Given the description of an element on the screen output the (x, y) to click on. 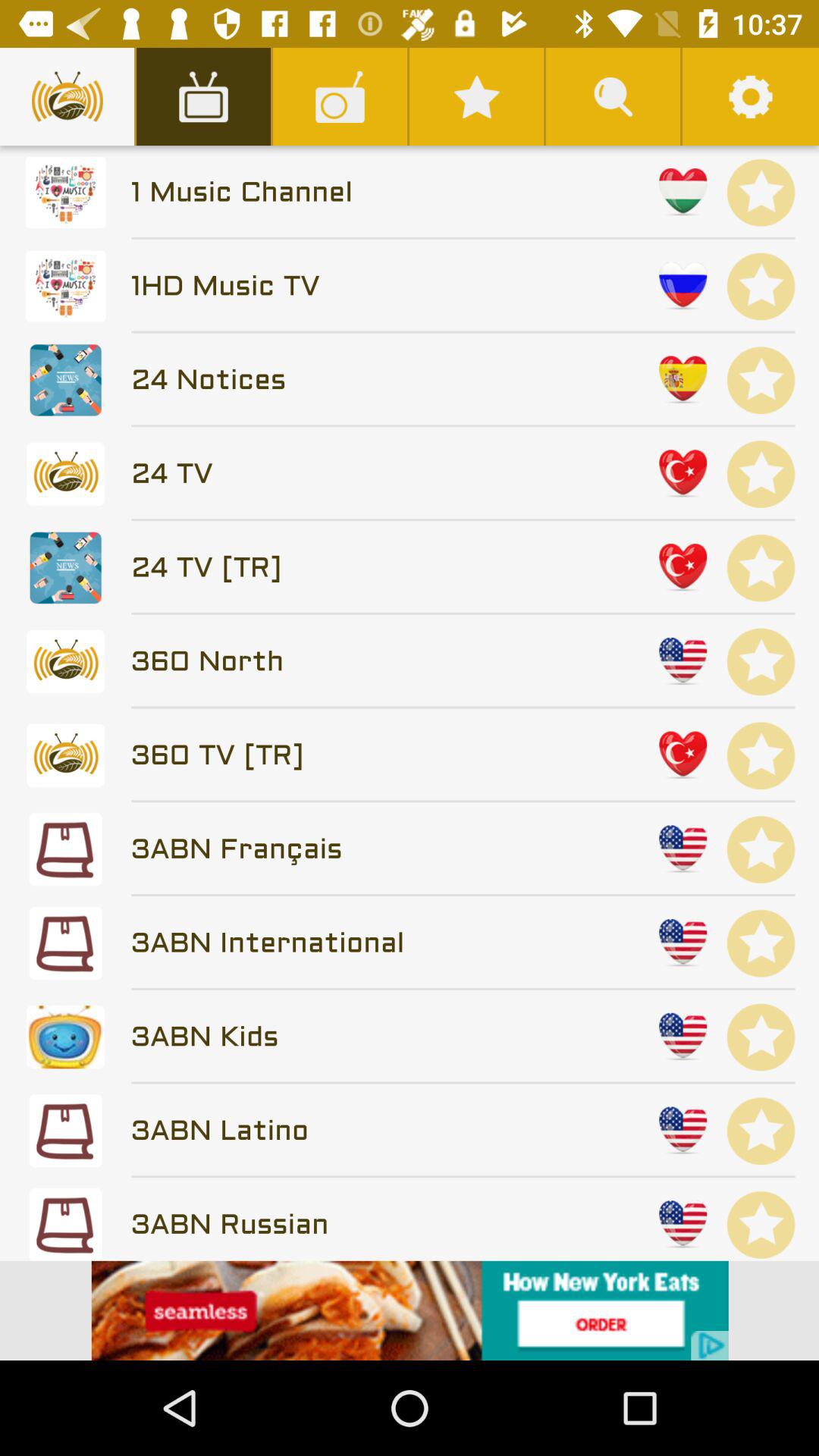
click the advertisement at bottom (409, 1310)
